Given the description of an element on the screen output the (x, y) to click on. 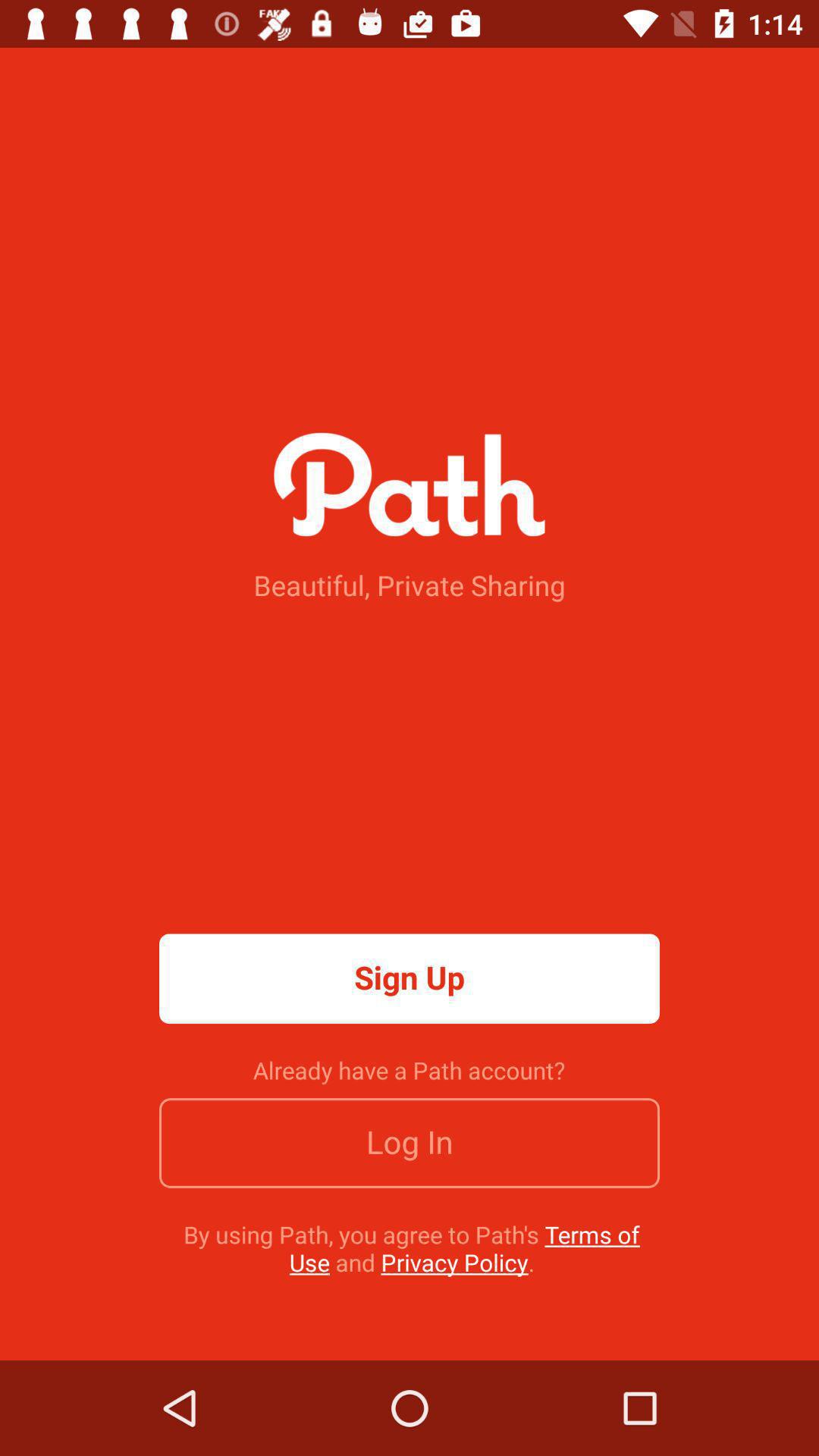
turn on app above the by using path (409, 1143)
